Given the description of an element on the screen output the (x, y) to click on. 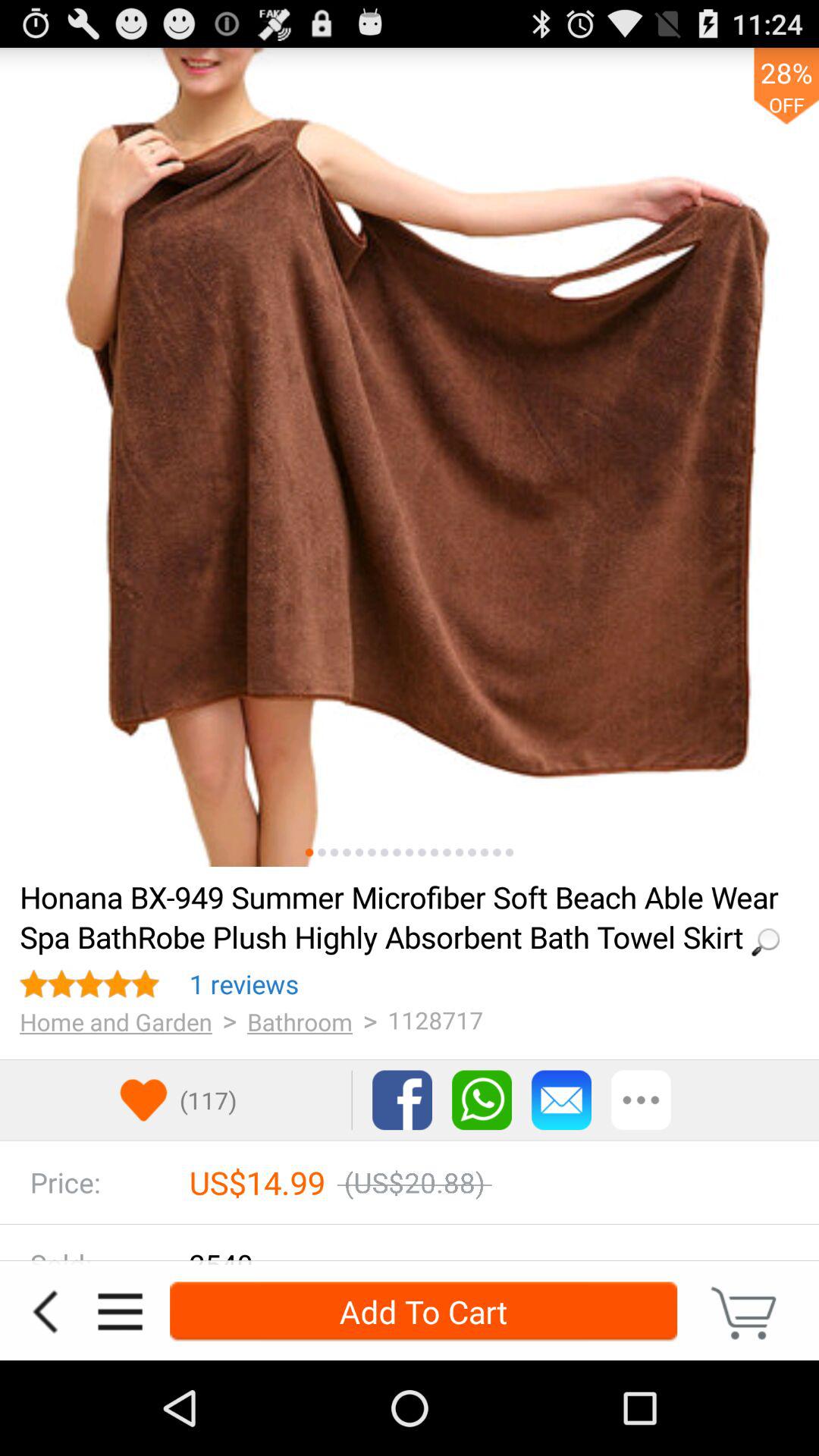
view picture (509, 852)
